Given the description of an element on the screen output the (x, y) to click on. 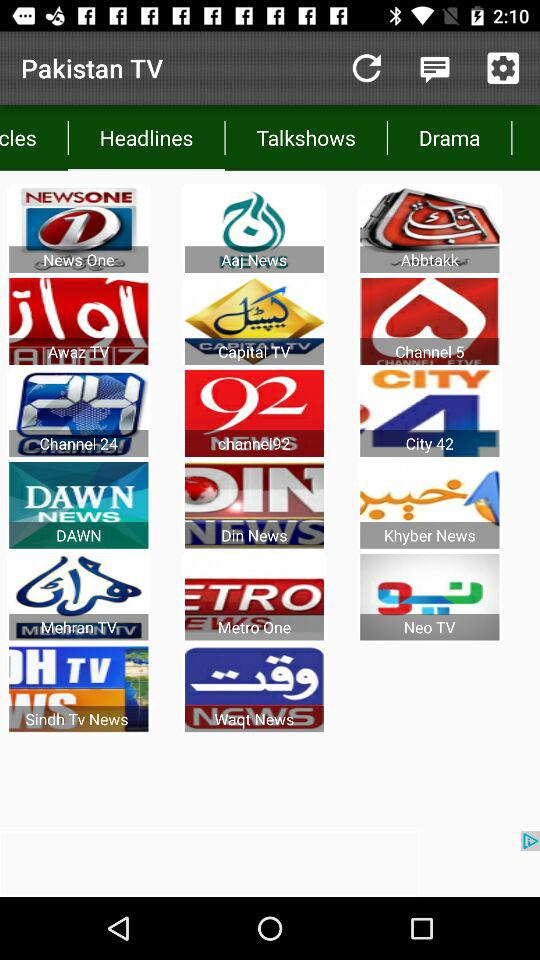
press the app next to headlines app (34, 137)
